Given the description of an element on the screen output the (x, y) to click on. 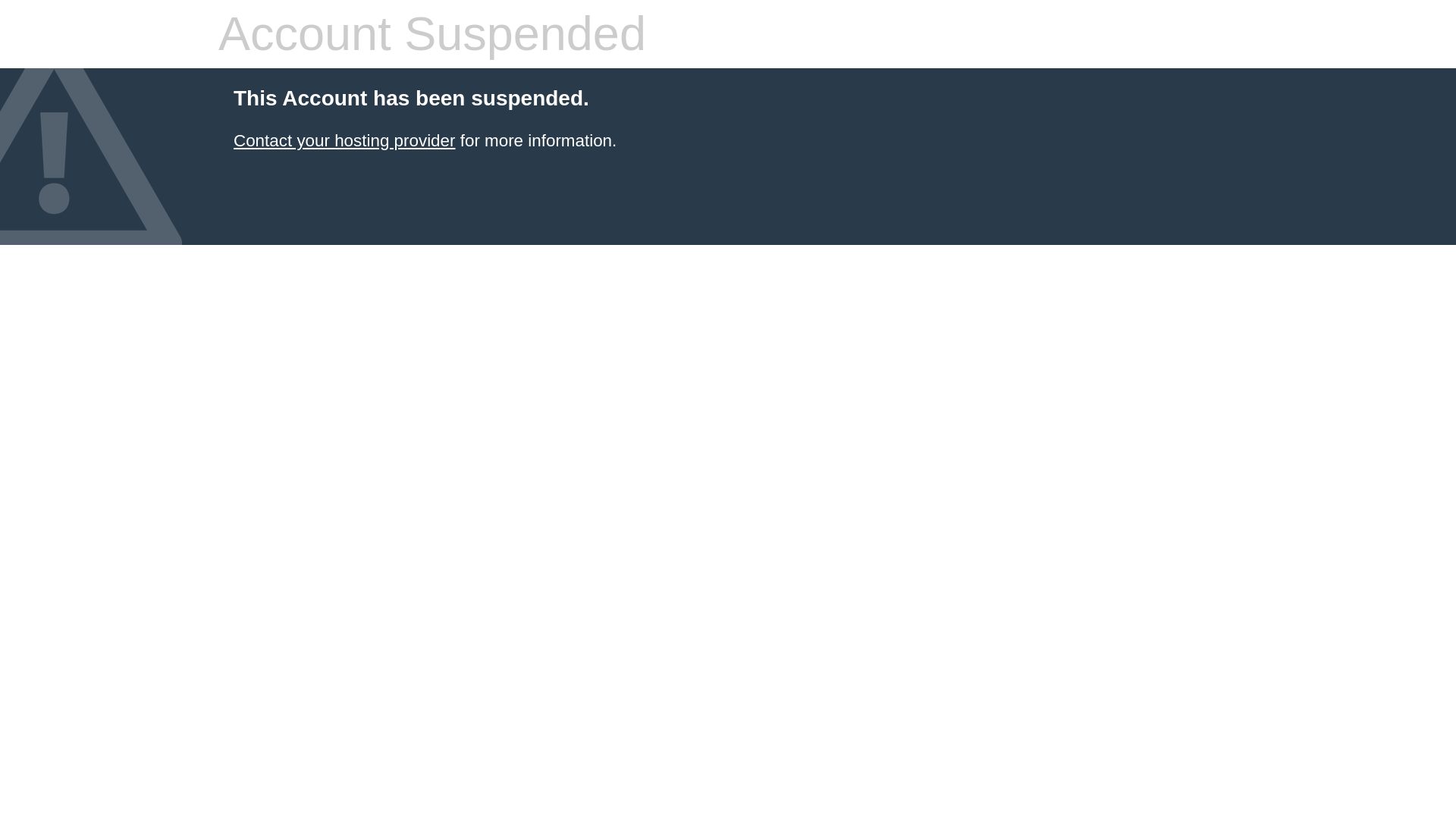
Contact your hosting provider (343, 140)
